Given the description of an element on the screen output the (x, y) to click on. 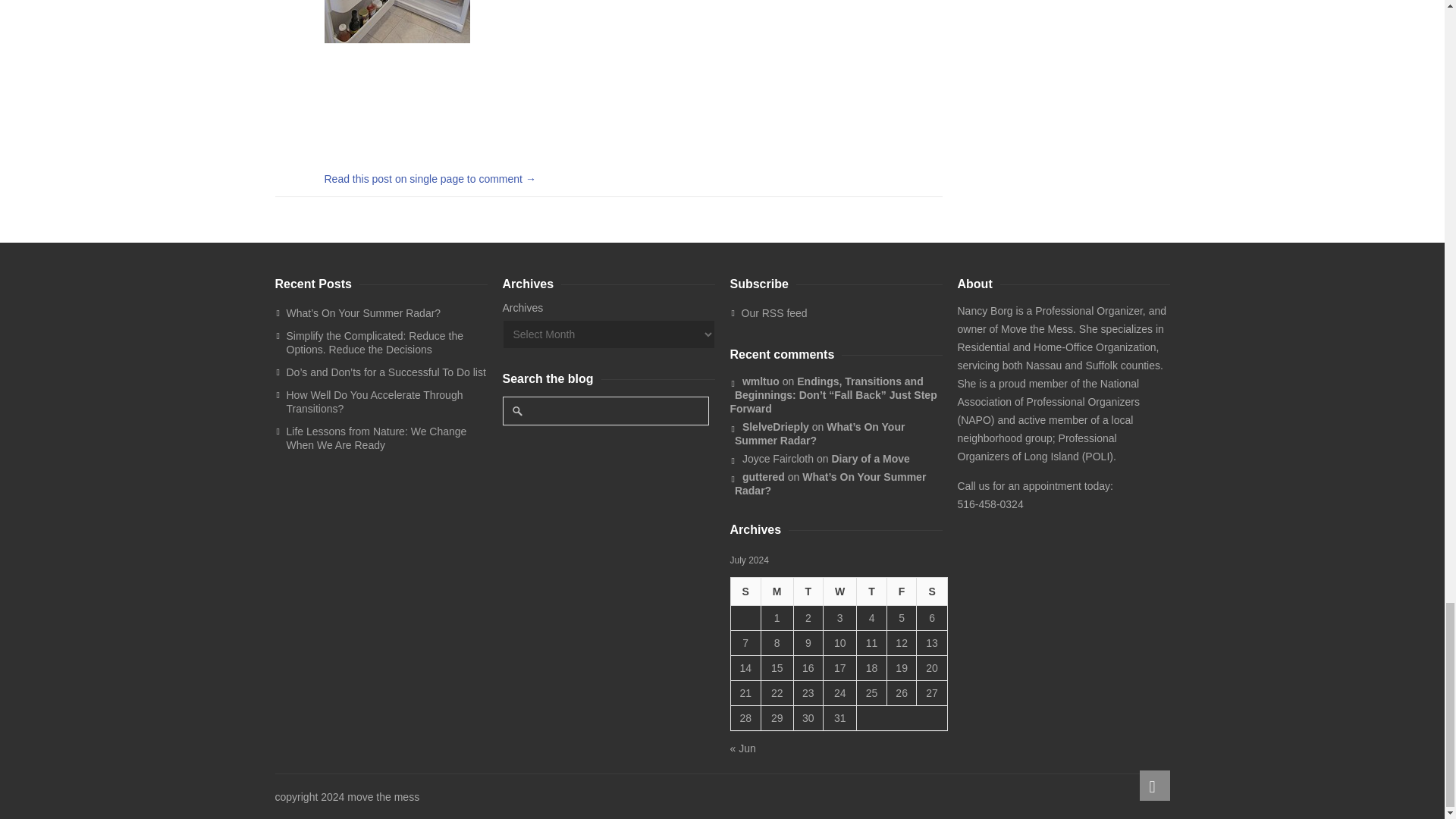
organized fridge (397, 21)
Wednesday (839, 591)
Tuesday (808, 591)
Sunday (744, 591)
Monday (776, 591)
